Given the description of an element on the screen output the (x, y) to click on. 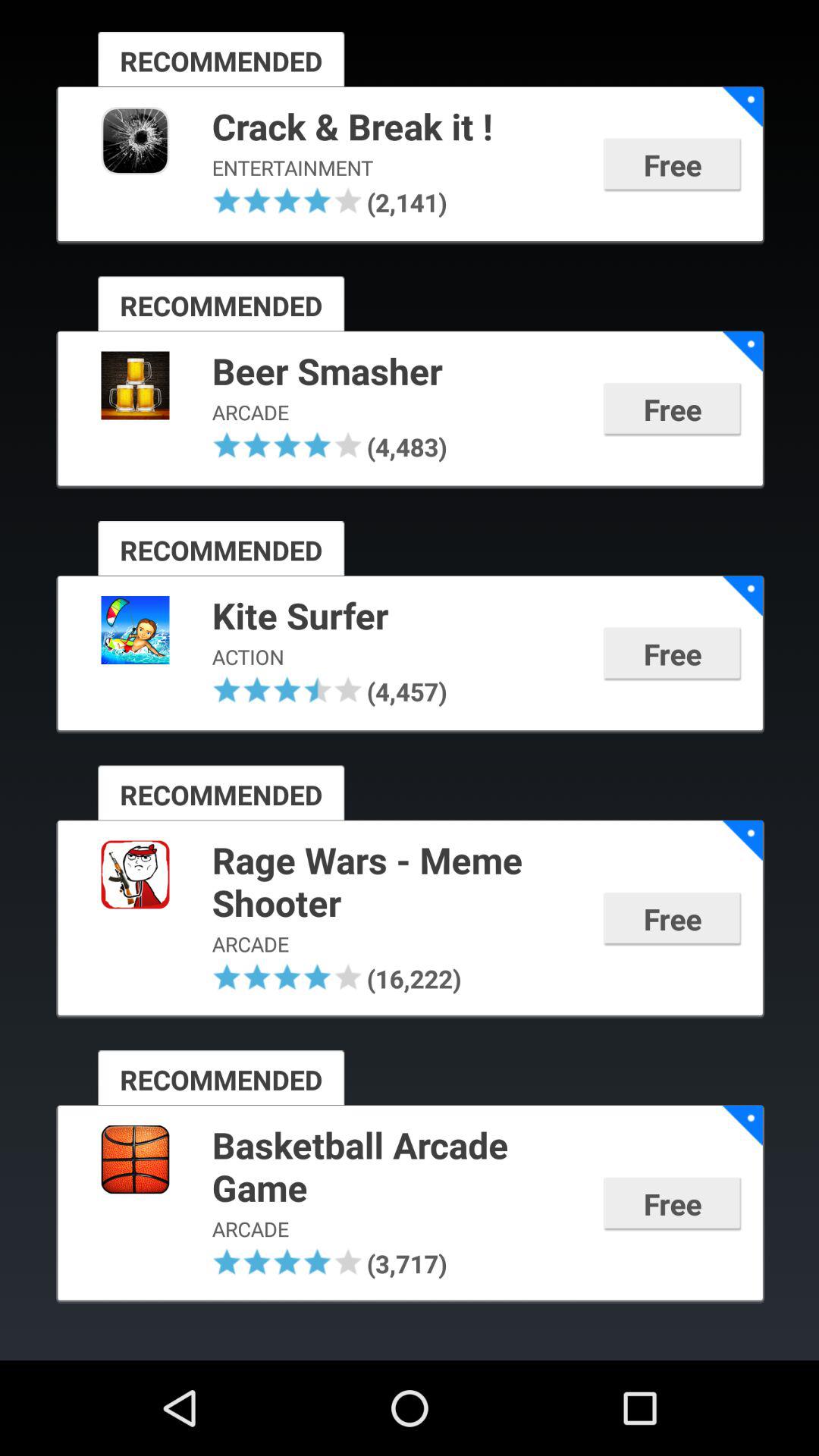
press icon above recommended item (317, 200)
